Given the description of an element on the screen output the (x, y) to click on. 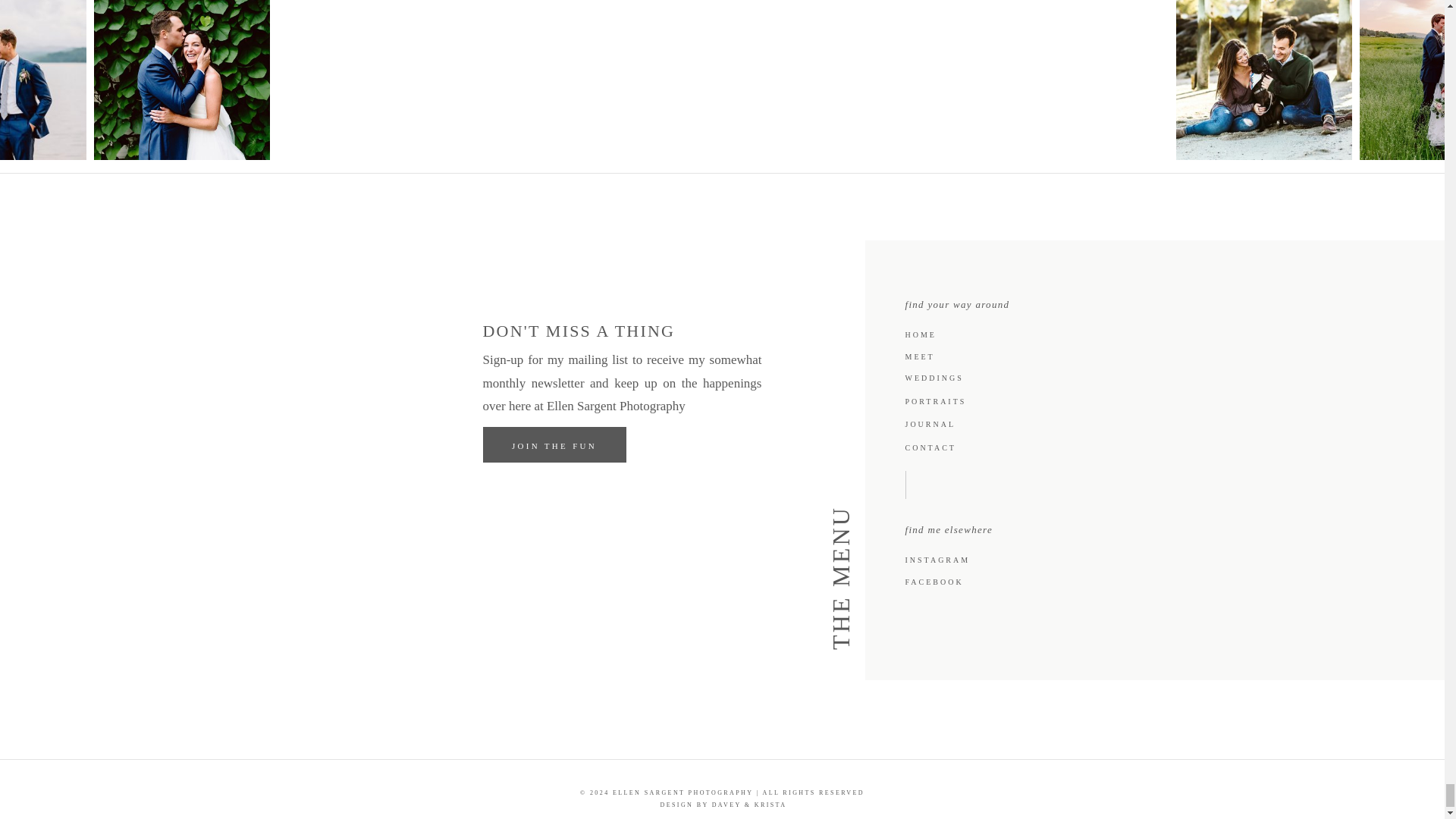
CONTACT (938, 446)
PORTRAITS (937, 399)
DON'T MISS A THING (595, 335)
find your way around (990, 300)
MEET (924, 355)
WEDDINGS (938, 377)
JOURNAL (933, 422)
